Given the description of an element on the screen output the (x, y) to click on. 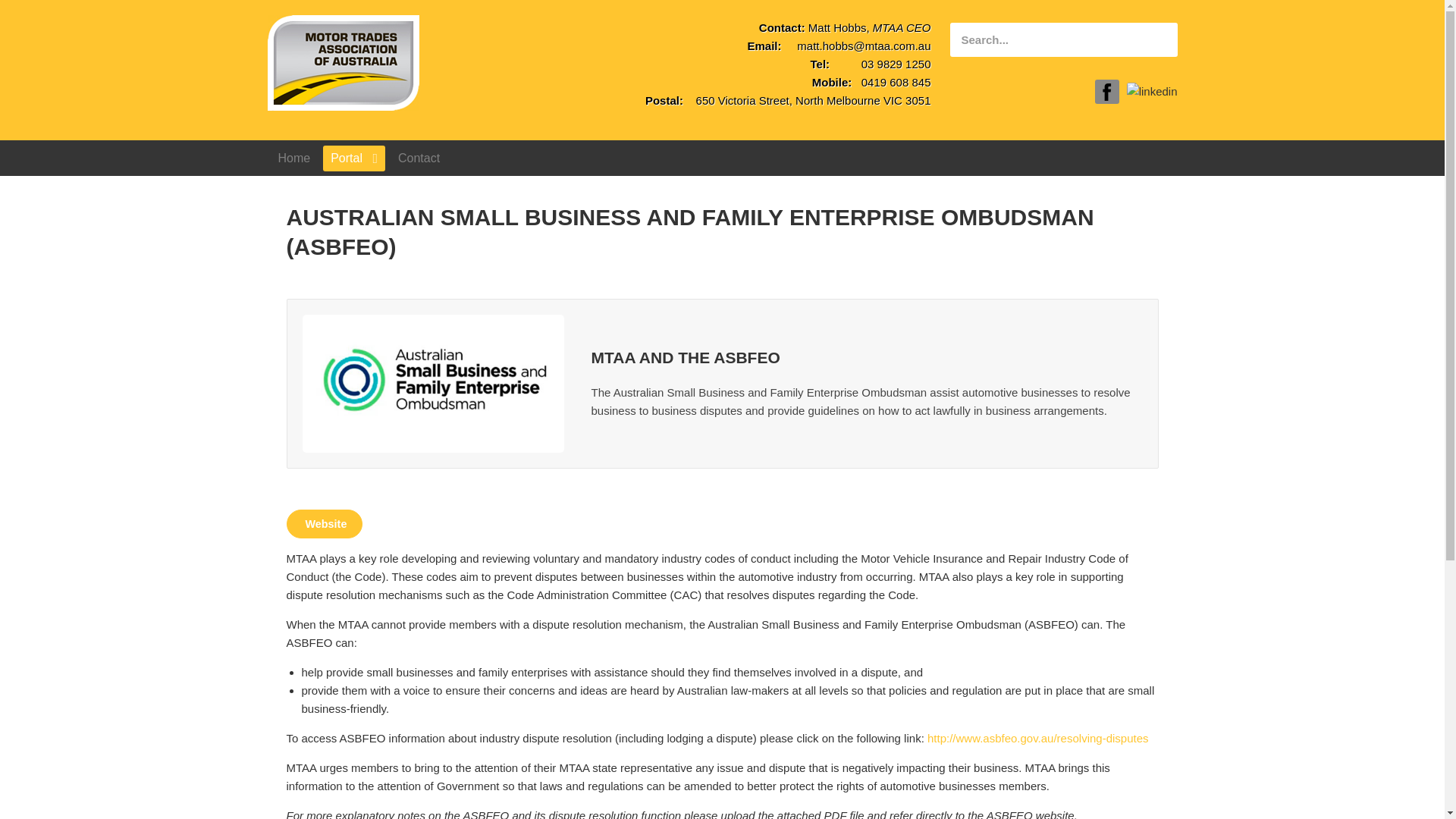
Portal (354, 157)
Contact (418, 157)
Home (293, 157)
 Website (324, 523)
